Given the description of an element on the screen output the (x, y) to click on. 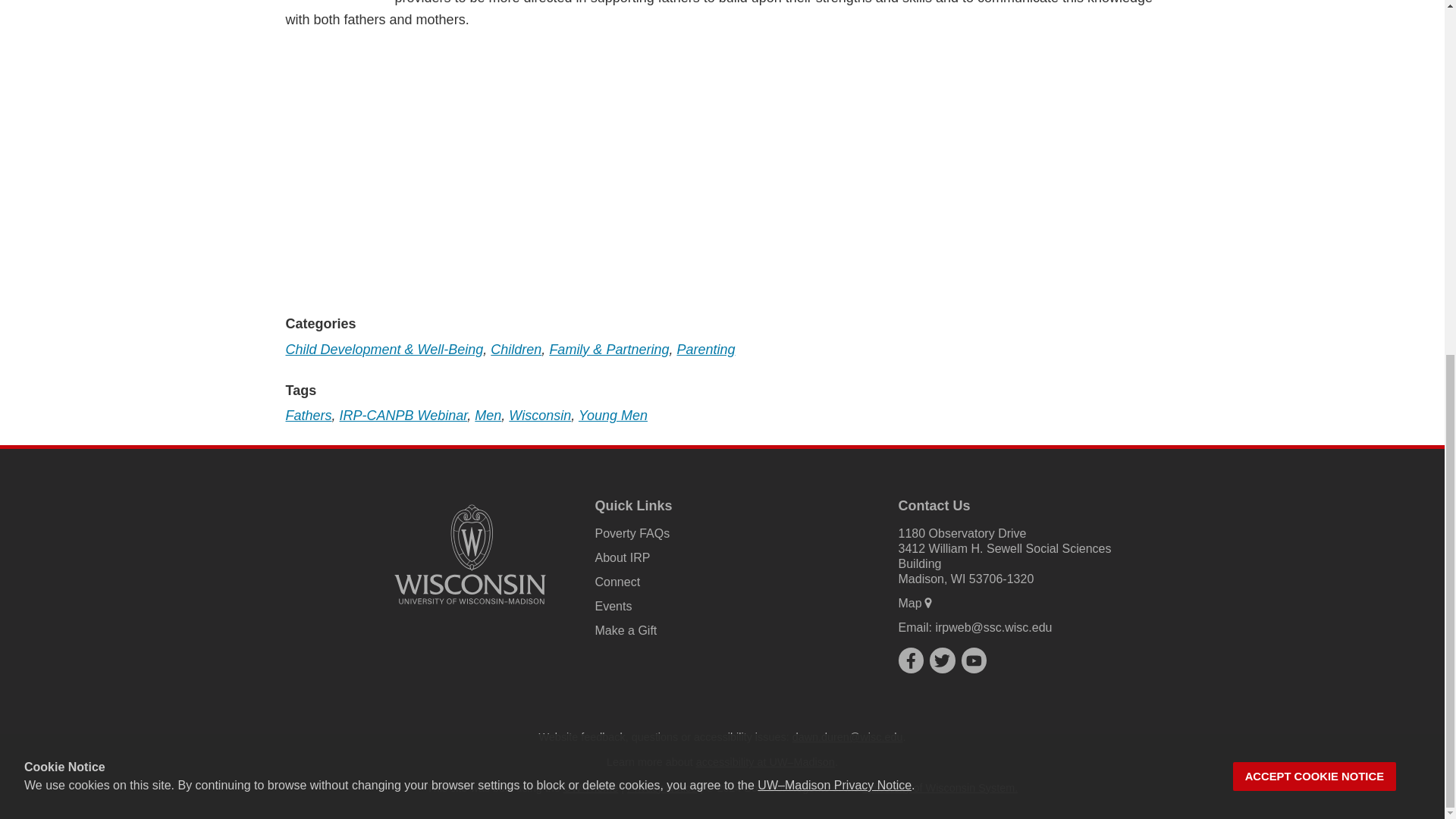
Events (612, 605)
Fathers (308, 415)
twitter (941, 660)
youtube (973, 660)
IRP-CANPB Webinar (403, 415)
Children (515, 349)
About IRP (621, 557)
University logo that links to main university website (470, 606)
ACCEPT COOKIE NOTICE (1314, 155)
Poverty FAQs (631, 533)
map marker (927, 603)
facebook (910, 660)
Connect (617, 581)
Parenting (706, 349)
University logo that links to main university website (470, 553)
